Given the description of an element on the screen output the (x, y) to click on. 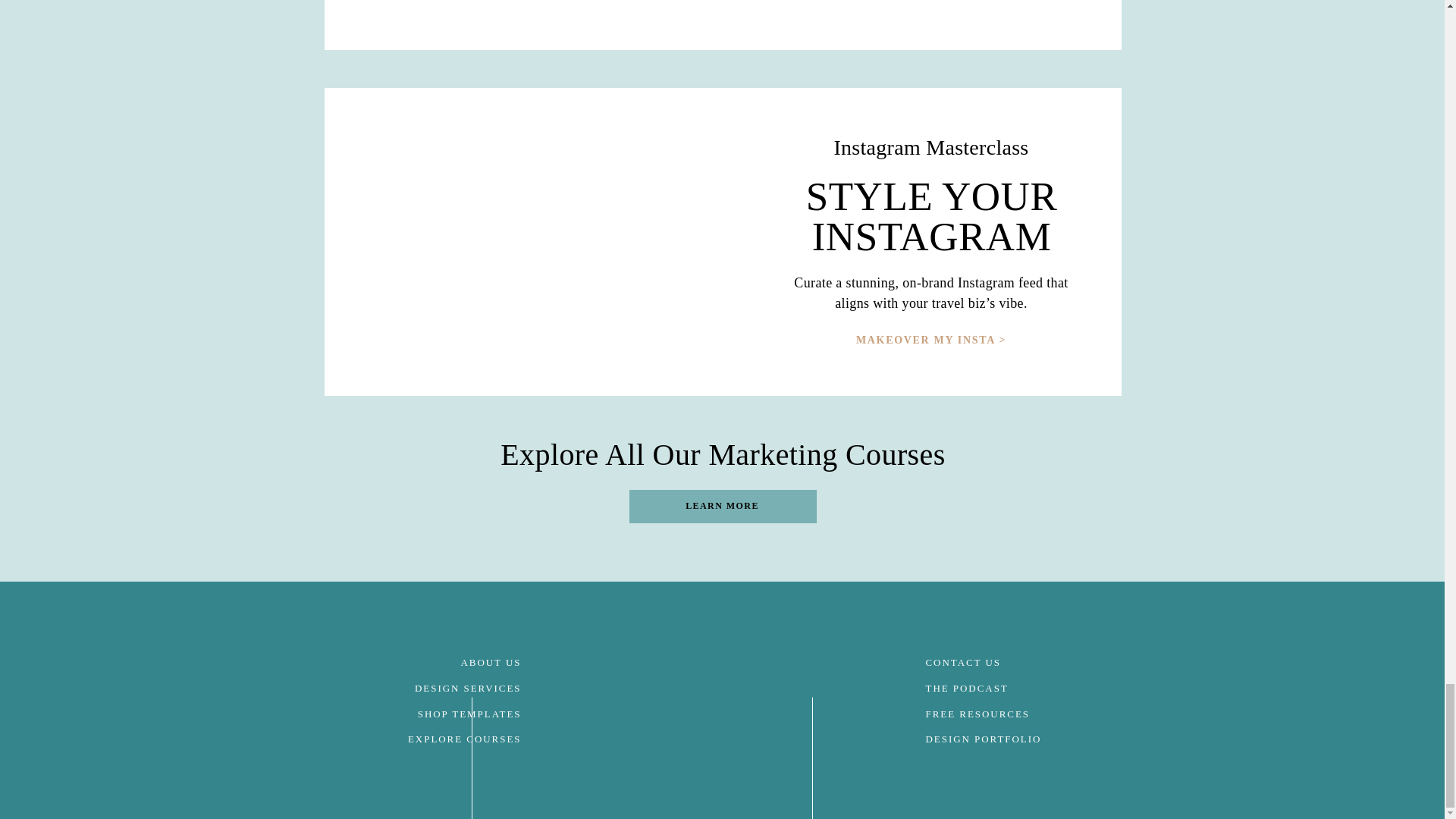
CONTACT US (962, 662)
DESIGN PORTFOLIO (982, 738)
THE PODCAST (965, 687)
ABOUT US (490, 662)
LEARN MORE (721, 507)
DESIGN SERVICES (467, 687)
EXPLORE COURSES (464, 738)
SHOP TEMPLATES (469, 713)
FREE RESOURCES (976, 713)
